Given the description of an element on the screen output the (x, y) to click on. 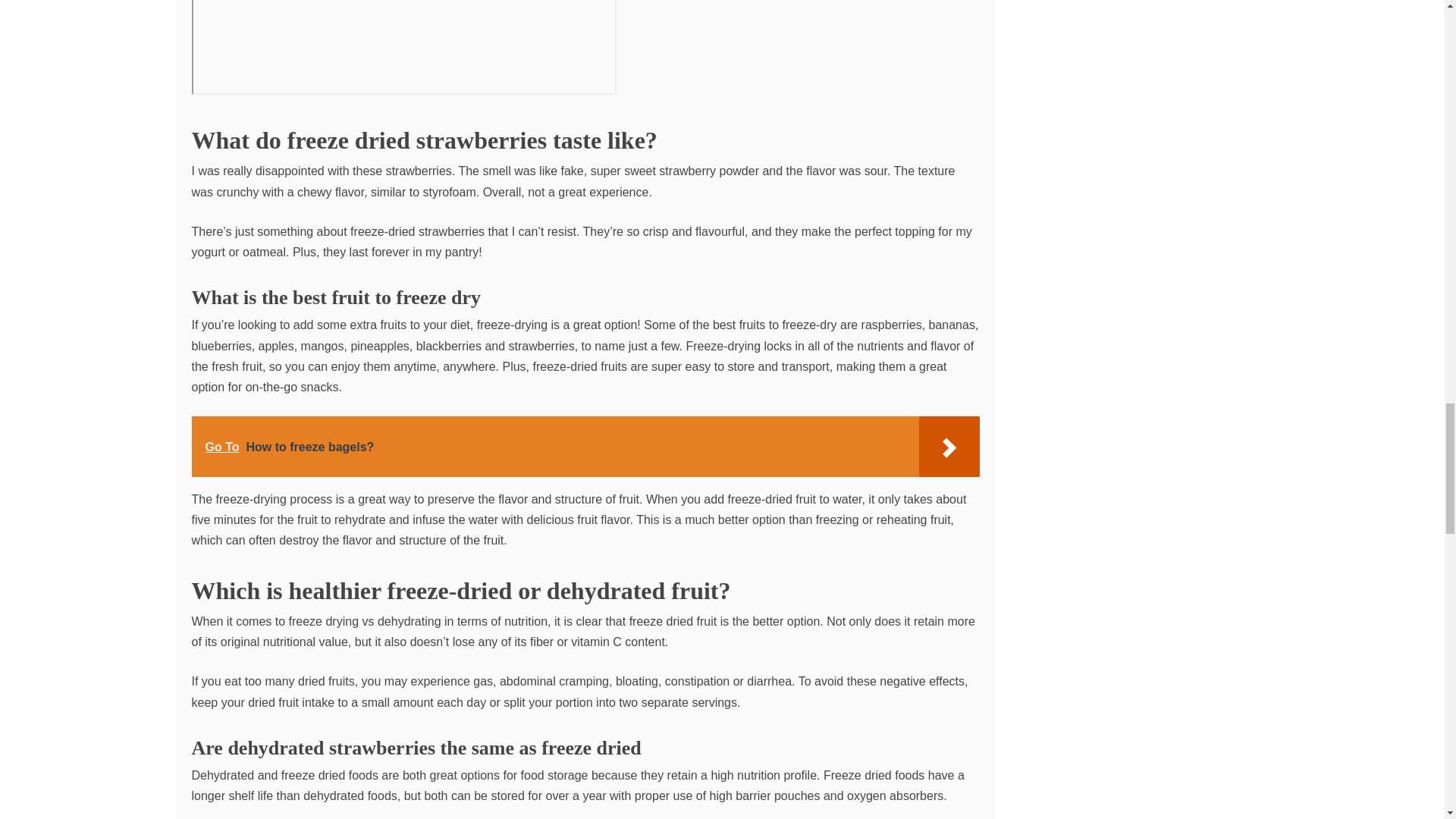
YouTube video player (402, 47)
Go To  How to freeze bagels? (584, 446)
